Given the description of an element on the screen output the (x, y) to click on. 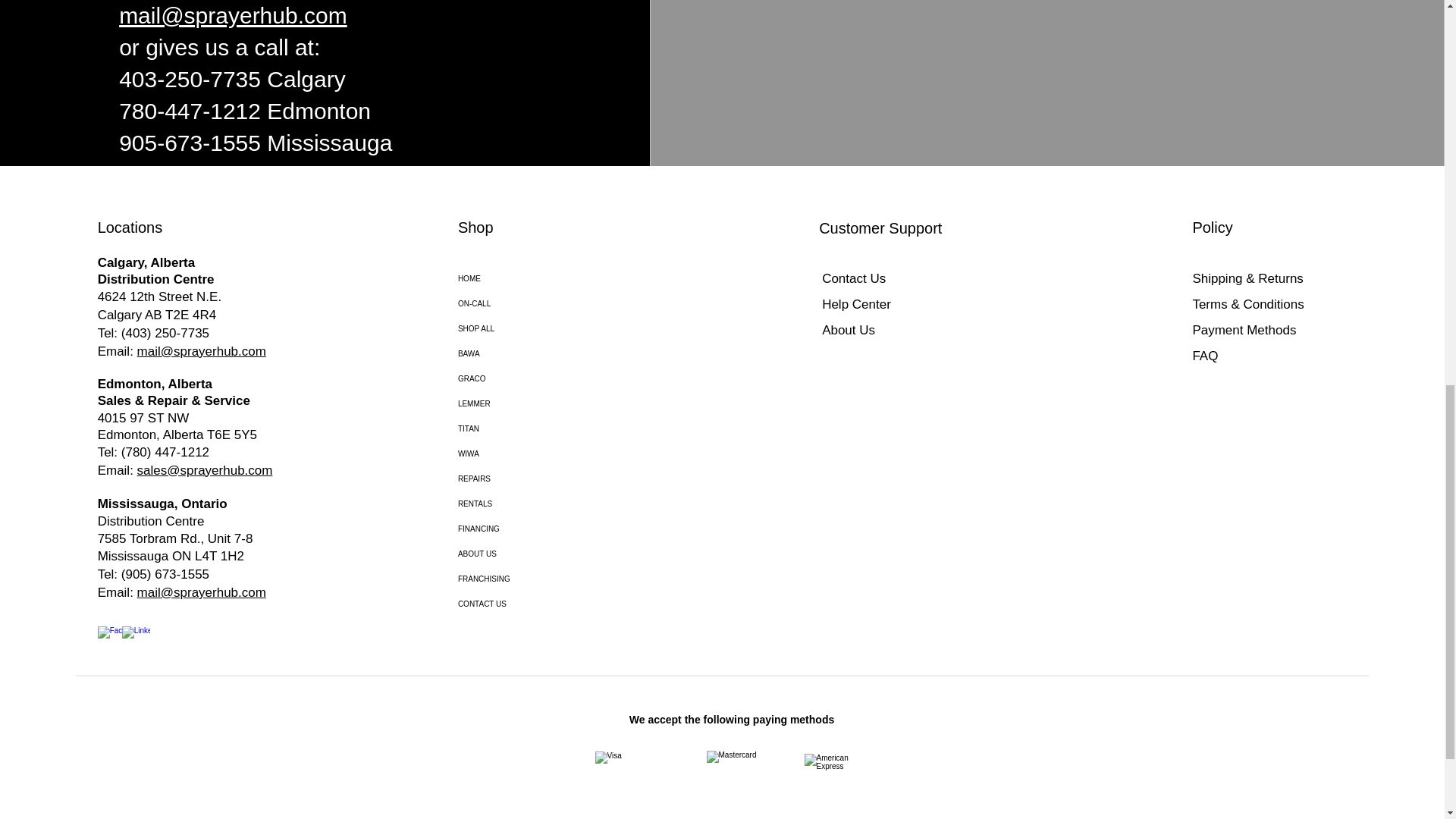
Go to Help Center (253, 397)
ON-CALL (541, 303)
SHOP ALL (541, 328)
HOME (541, 278)
905-673-1555 Mississauga (255, 142)
GRACO (541, 378)
780-447-1212 (189, 110)
BAWA (541, 353)
403-250-7735 Calgary (232, 78)
LEMMER (541, 403)
